Given the description of an element on the screen output the (x, y) to click on. 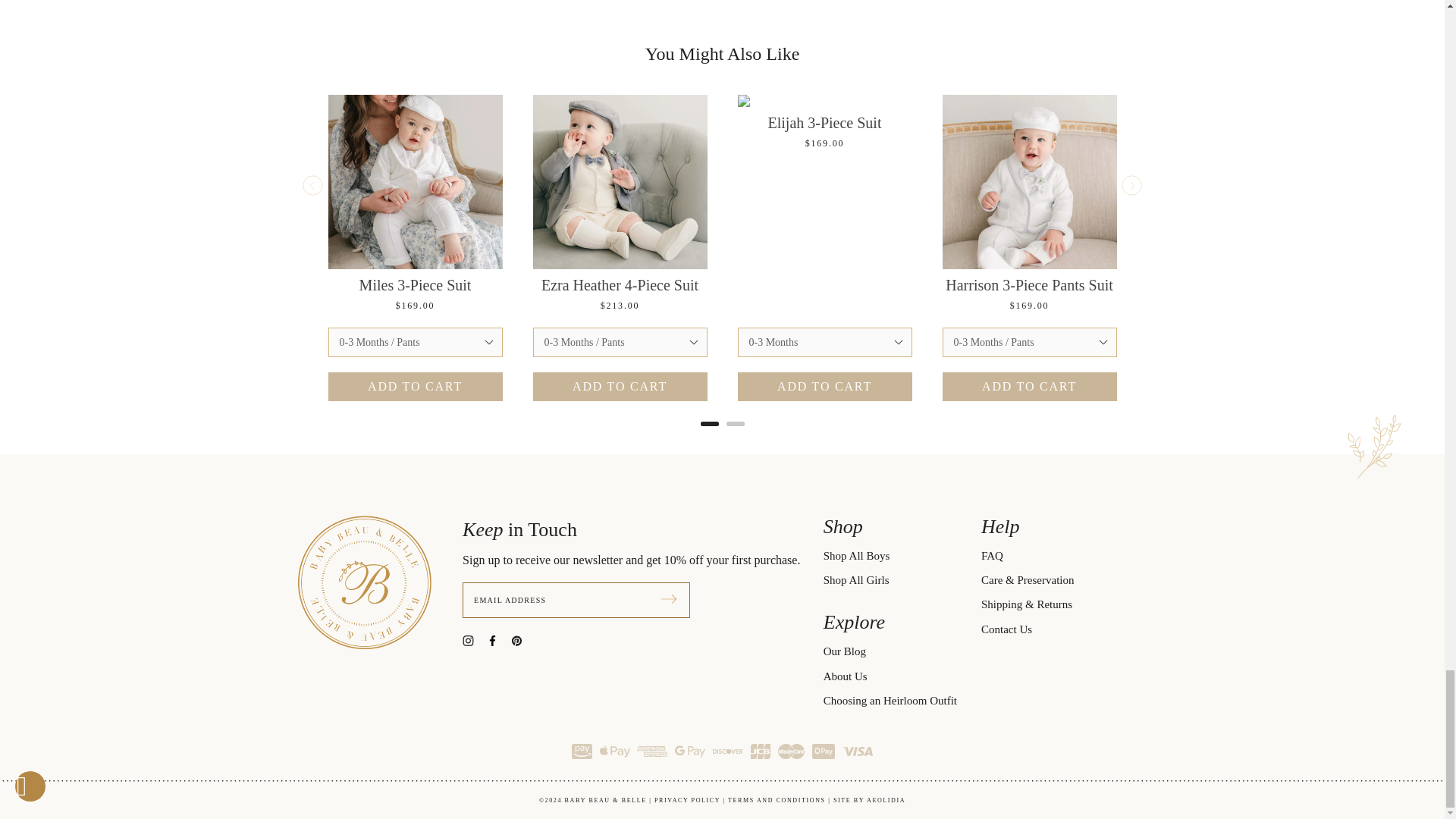
Baby Beau and Belle on Facebook (498, 638)
Select product variant (619, 342)
arrow icon (669, 598)
Select product variant (823, 342)
Select product variant (1029, 342)
Select product variant (414, 342)
Baby Beau and Belle on Instagram (474, 638)
